Given the description of an element on the screen output the (x, y) to click on. 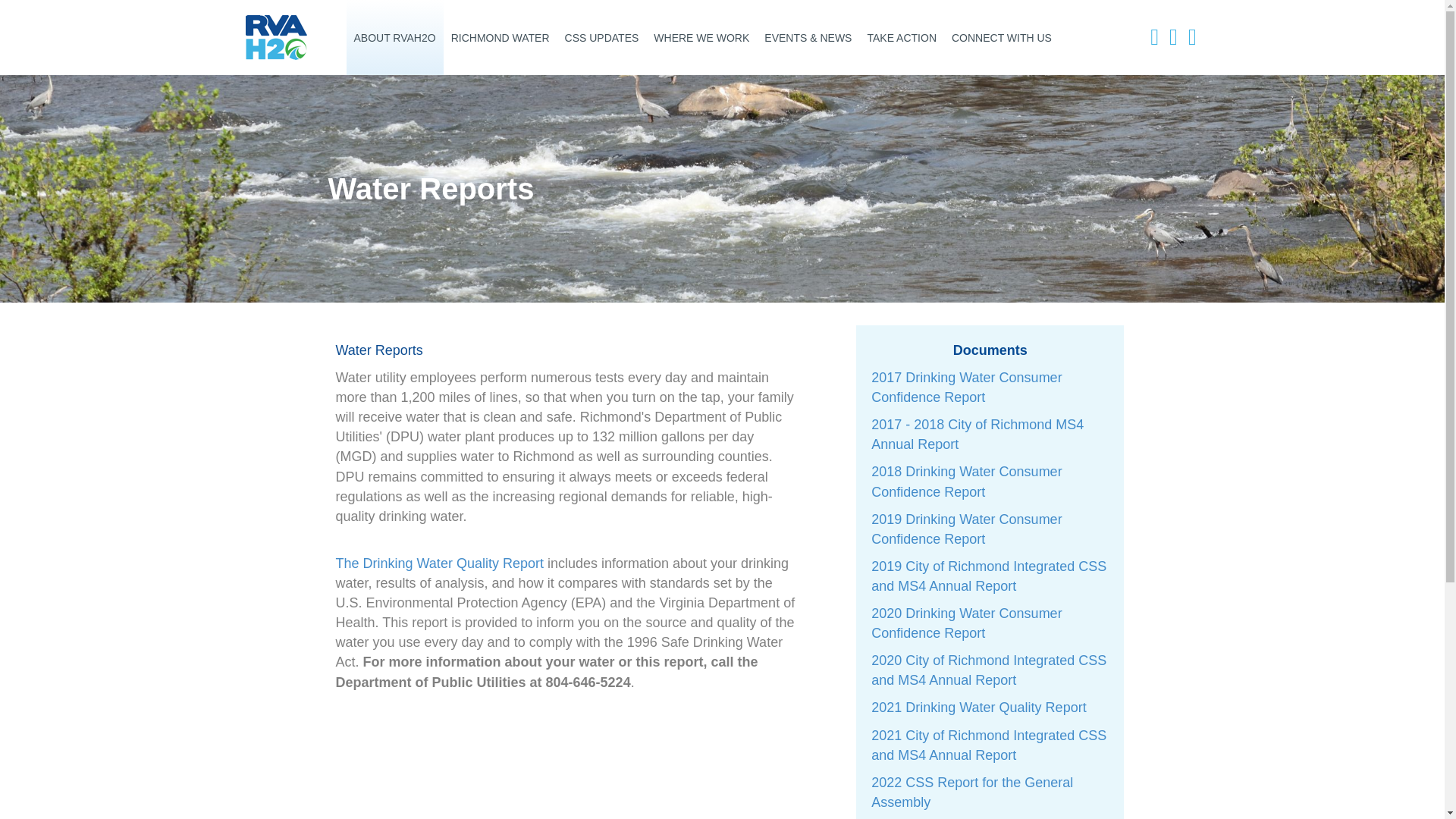
CSS UPDATES (601, 38)
WHERE WE WORK (701, 38)
logo-header (276, 37)
TAKE ACTION (901, 38)
RICHMOND WATER (500, 38)
ABOUT RVAH2O (394, 38)
CONNECT WITH US (1001, 38)
